Given the description of an element on the screen output the (x, y) to click on. 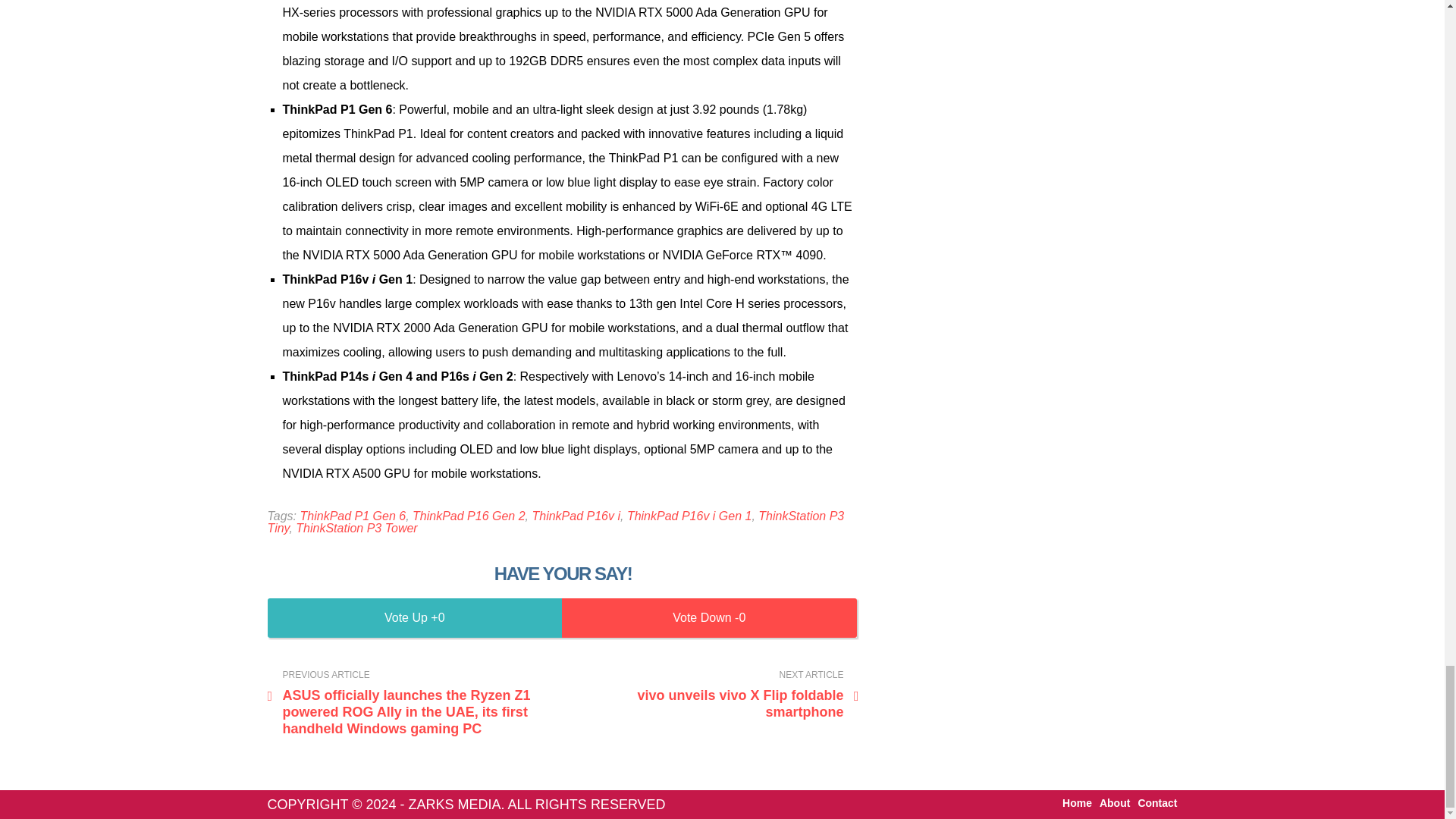
vivo unveils vivo X Flip foldable smartphone (714, 695)
ThinkPad P16 Gen 2 (468, 515)
ThinkPad P16v i Gen 1 (689, 515)
ThinkStation P3 Tower (714, 695)
ThinkPad P1 Gen 6 (355, 527)
ThinkPad P16v i (352, 515)
ThinkStation P3 Tiny (575, 515)
